Given the description of an element on the screen output the (x, y) to click on. 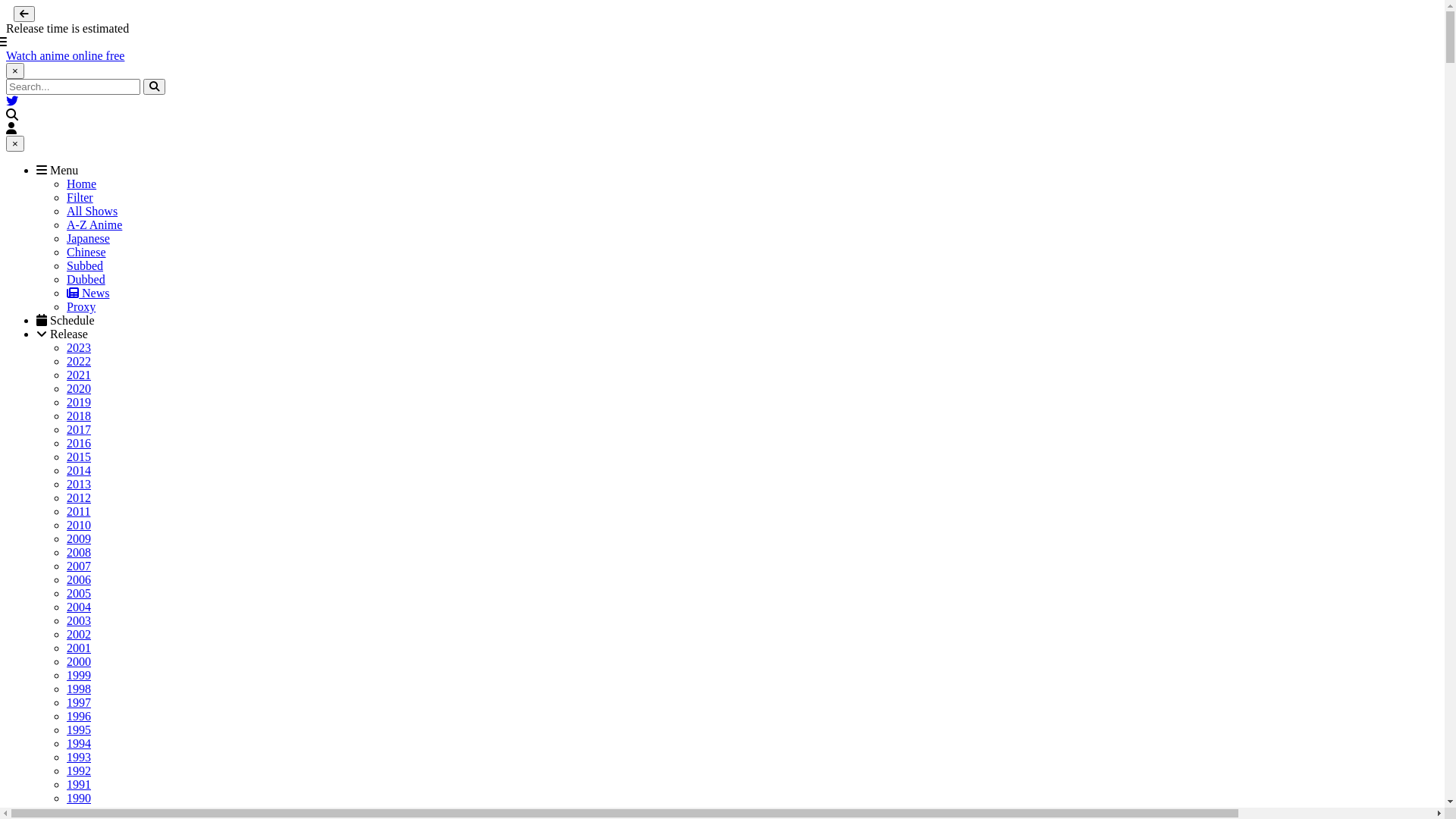
Menu Element type: text (57, 169)
2007 Element type: text (78, 565)
1996 Element type: text (78, 715)
2005 Element type: text (78, 592)
A-Z Anime Element type: text (94, 224)
News Element type: text (87, 292)
Subbed Element type: text (84, 265)
2022 Element type: text (78, 360)
Follow us on Twitter Element type: hover (12, 100)
2010 Element type: text (78, 524)
1999 Element type: text (78, 674)
Japanese Element type: text (87, 238)
1994 Element type: text (78, 743)
1989 Element type: text (78, 811)
Schedule Element type: text (65, 319)
2003 Element type: text (78, 620)
2020 Element type: text (78, 388)
2000 Element type: text (78, 661)
2018 Element type: text (78, 415)
2016 Element type: text (78, 442)
2004 Element type: text (78, 606)
2012 Element type: text (78, 497)
2021 Element type: text (78, 374)
2008 Element type: text (78, 552)
2006 Element type: text (78, 579)
Release Element type: text (61, 333)
Watch anime online free Element type: text (65, 55)
Home Element type: text (81, 183)
Proxy Element type: text (80, 306)
1997 Element type: text (78, 702)
2019 Element type: text (78, 401)
2009 Element type: text (78, 538)
1995 Element type: text (78, 729)
Dubbed Element type: text (85, 279)
Filter Element type: text (79, 197)
2002 Element type: text (78, 633)
2001 Element type: text (78, 647)
2015 Element type: text (78, 456)
2014 Element type: text (78, 470)
All Shows Element type: text (91, 210)
1991 Element type: text (78, 784)
2013 Element type: text (78, 483)
2023 Element type: text (78, 347)
2011 Element type: text (78, 511)
1990 Element type: text (78, 797)
1998 Element type: text (78, 688)
Chinese Element type: text (86, 251)
1993 Element type: text (78, 756)
2017 Element type: text (78, 429)
1992 Element type: text (78, 770)
